Given the description of an element on the screen output the (x, y) to click on. 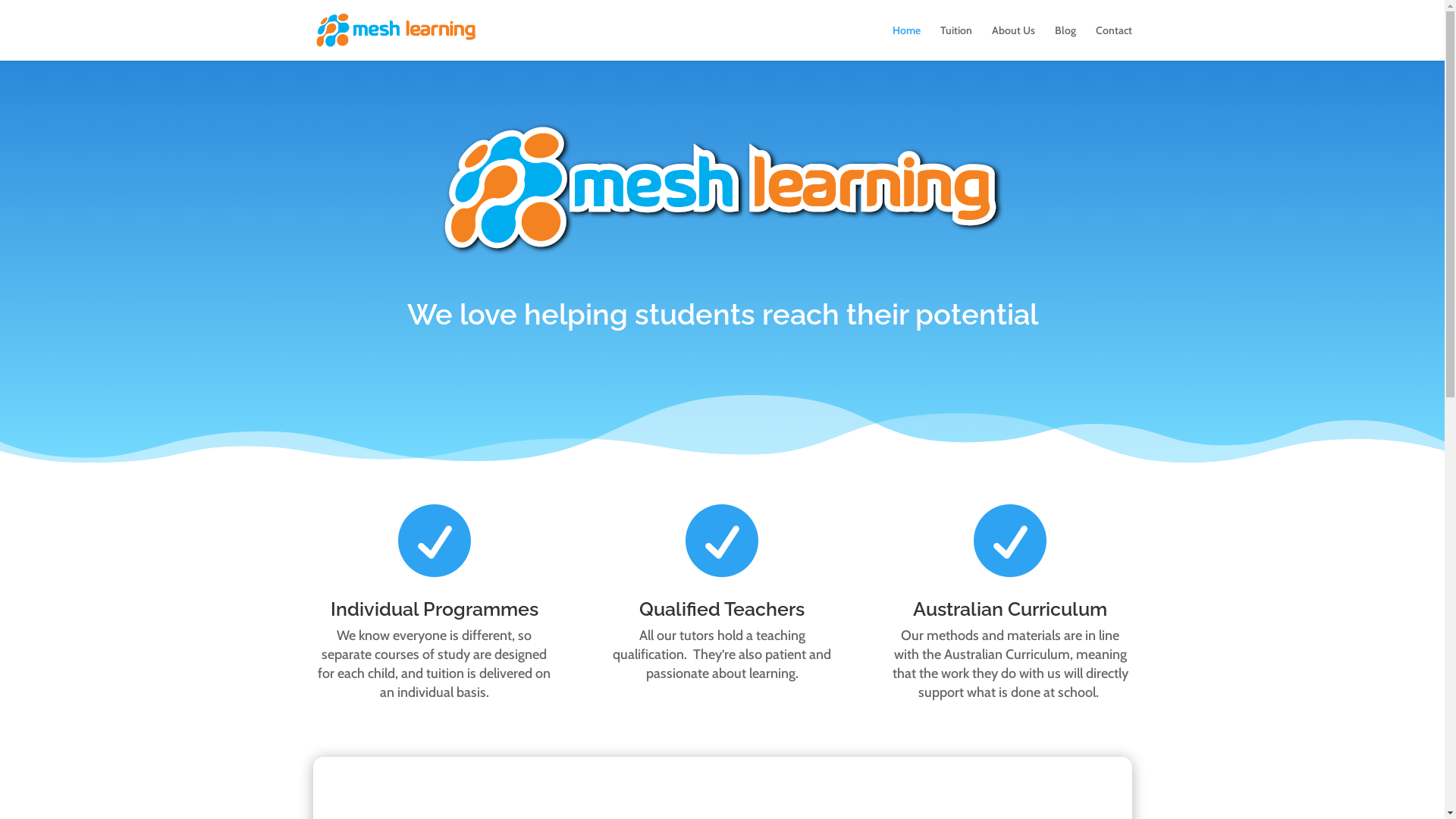
About Us Element type: text (1013, 42)
Tuition Element type: text (956, 42)
Blog Element type: text (1064, 42)
Home Element type: text (905, 42)
Contact Element type: text (1113, 42)
